Given the description of an element on the screen output the (x, y) to click on. 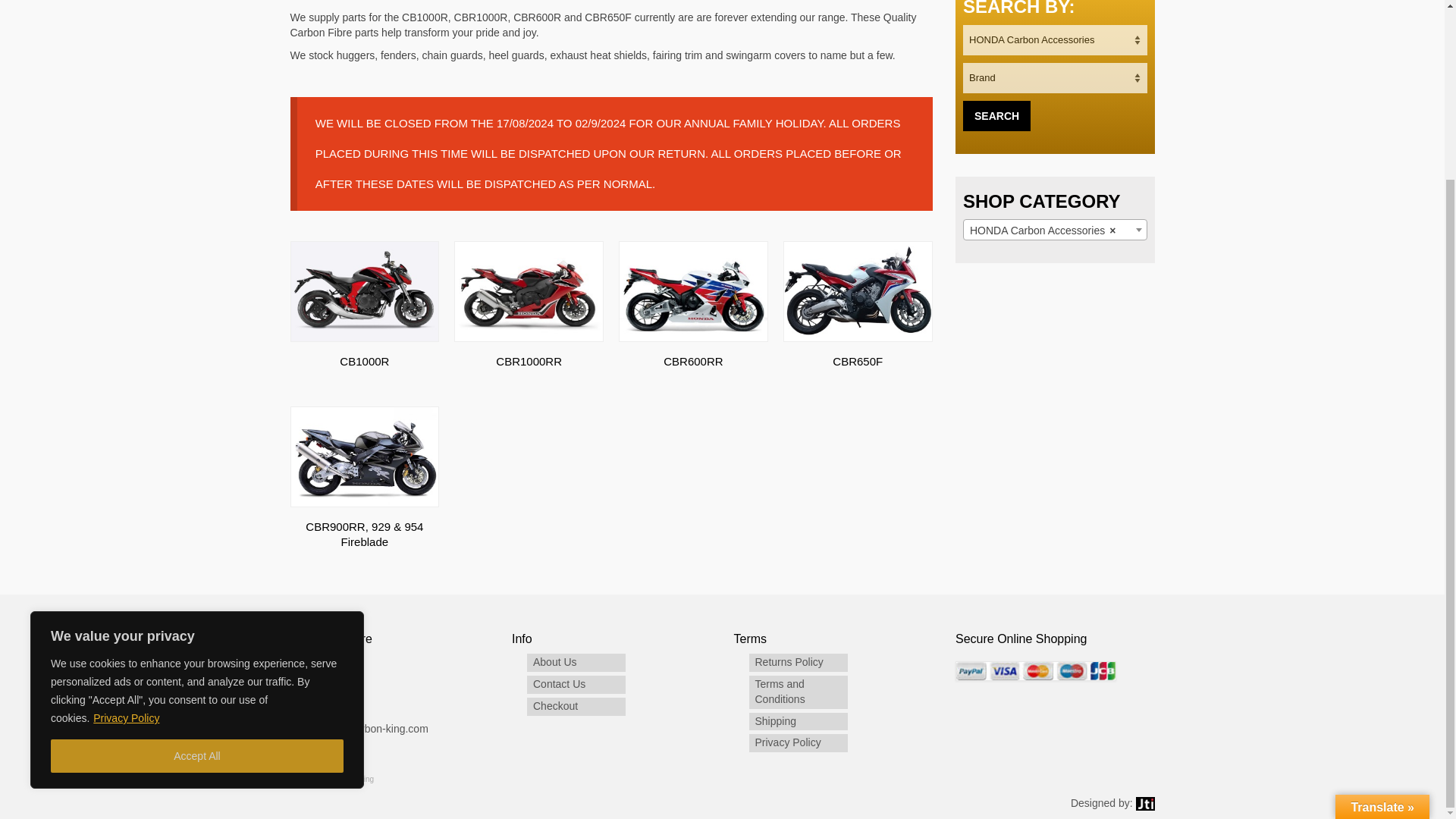
Privacy Policy (126, 499)
CB1000R (364, 315)
SEARCH (996, 115)
Accept All (196, 536)
CBR1000RR (529, 315)
HONDA Carbon Accessories (1055, 230)
